Given the description of an element on the screen output the (x, y) to click on. 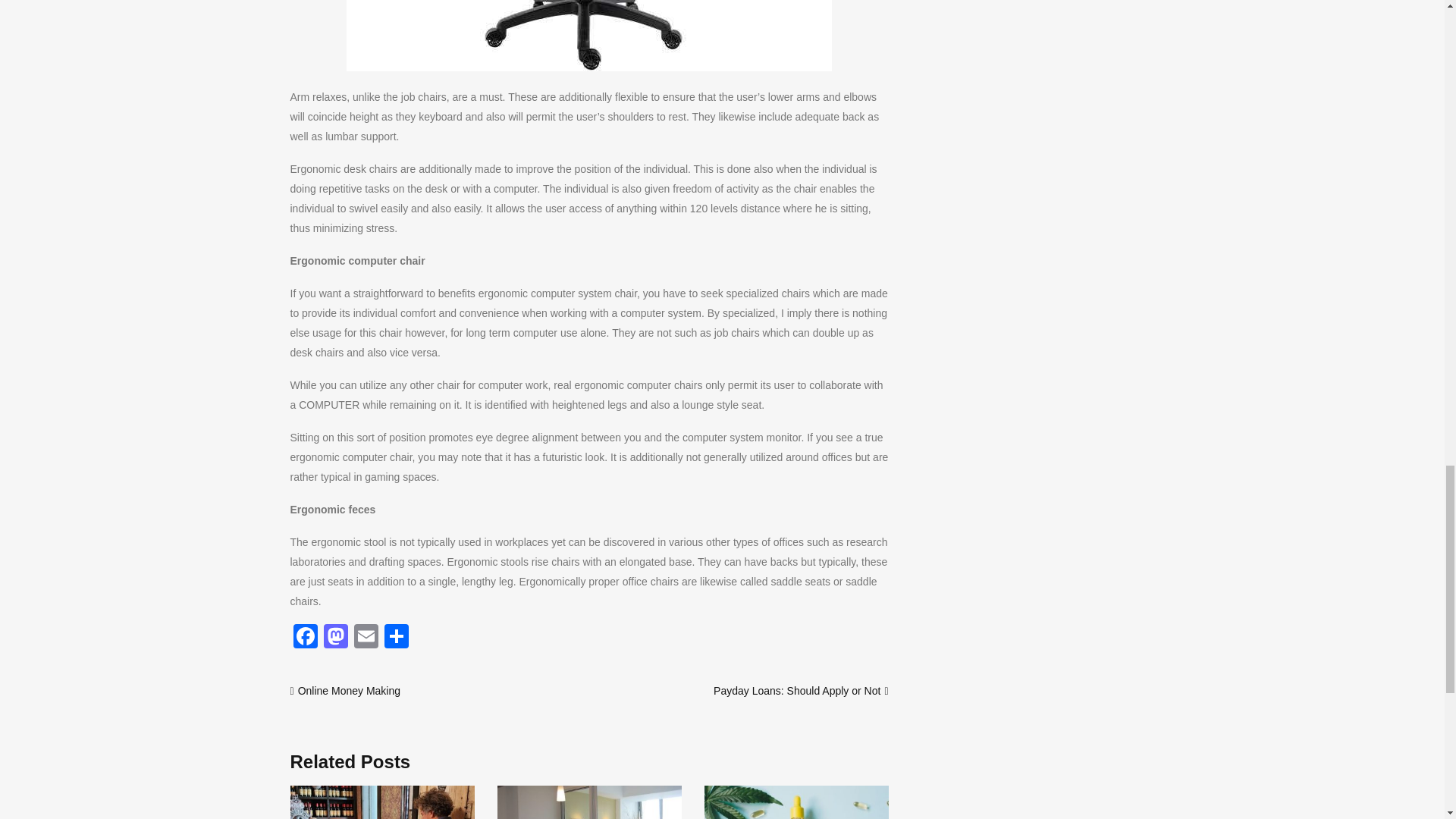
Facebook (304, 637)
Payday Loans: Should Apply or Not (796, 690)
Email (365, 637)
Facebook (304, 637)
Mastodon (335, 637)
Online Money Making (349, 690)
Mastodon (335, 637)
Email (365, 637)
